Given the description of an element on the screen output the (x, y) to click on. 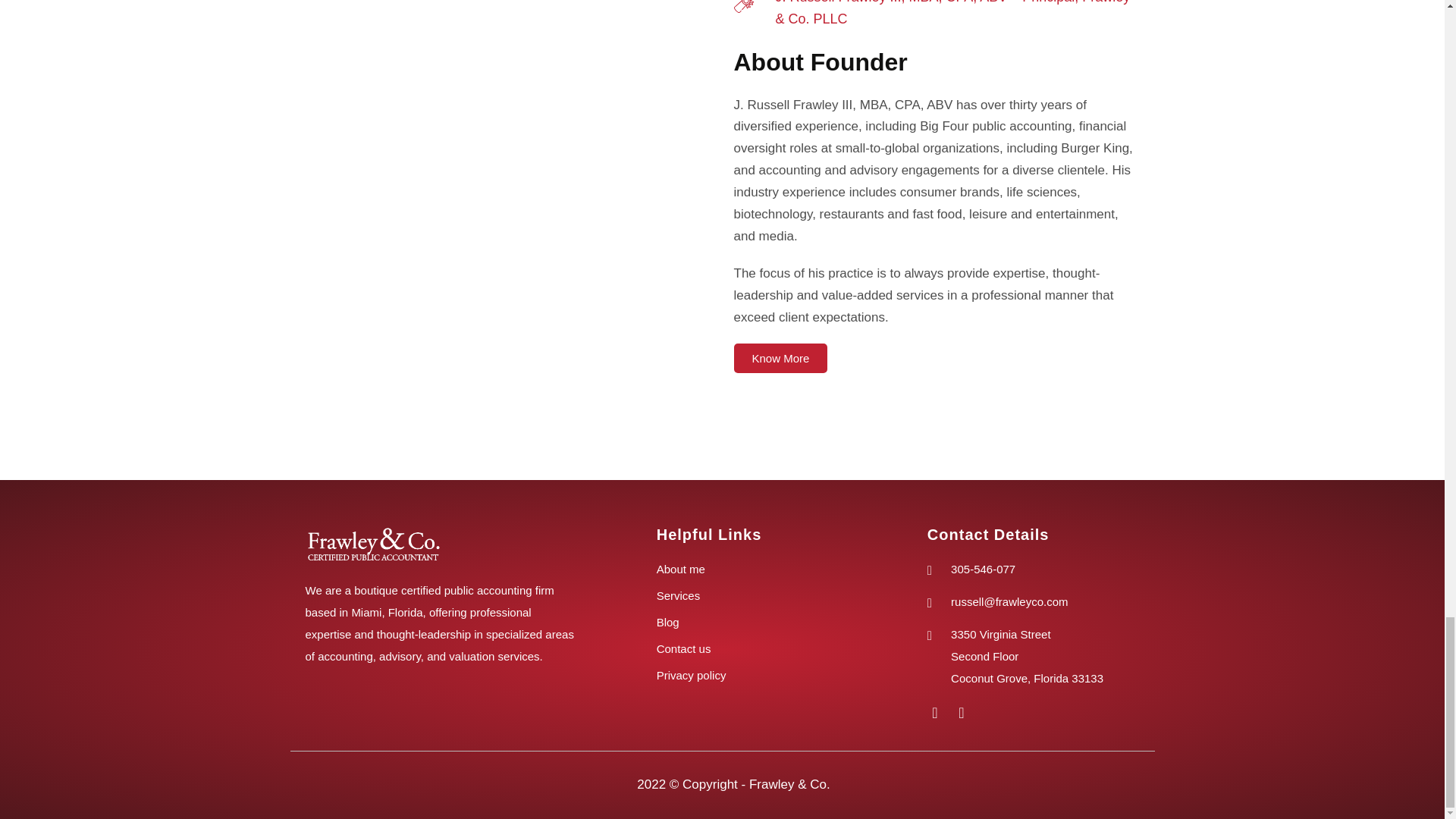
Contact us (765, 649)
305-546-077 (1030, 569)
Privacy policy (765, 676)
About me (765, 569)
Know More (780, 358)
Services (765, 596)
Twitter (961, 712)
Blog (765, 622)
Linkedin (934, 712)
